Given the description of an element on the screen output the (x, y) to click on. 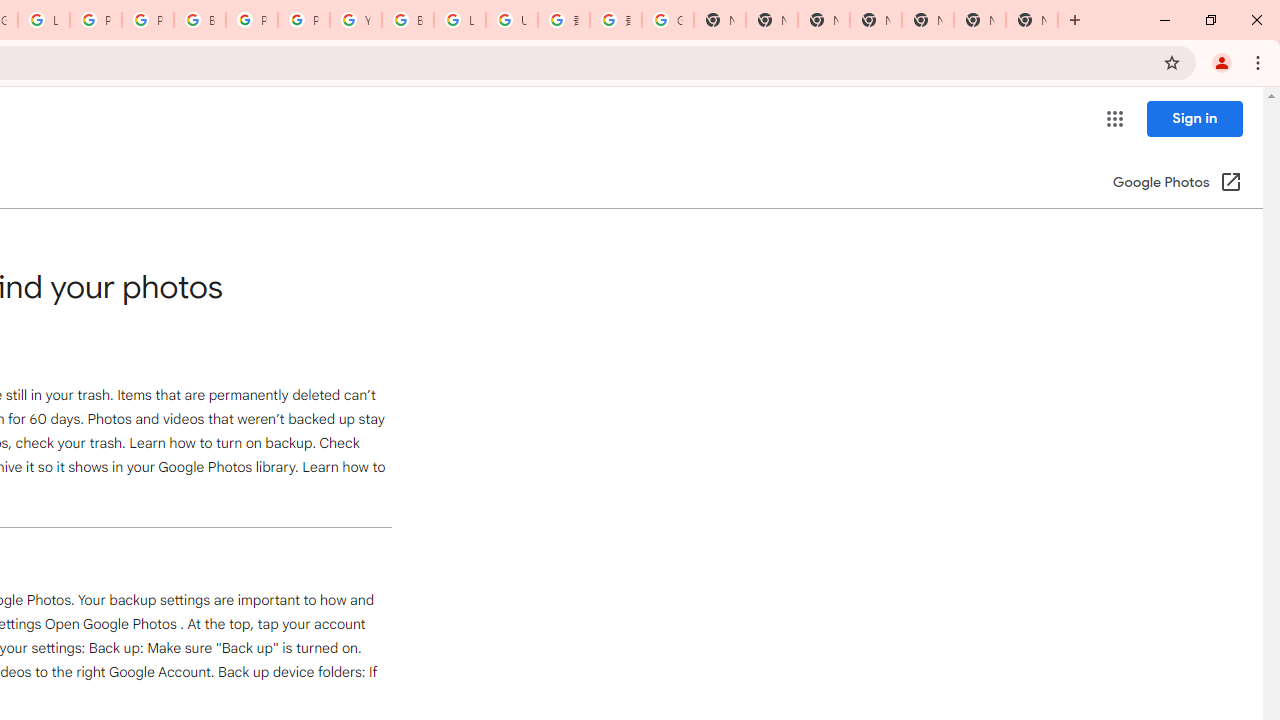
Google Images (667, 20)
New Tab (875, 20)
Privacy Help Center - Policies Help (95, 20)
